Given the description of an element on the screen output the (x, y) to click on. 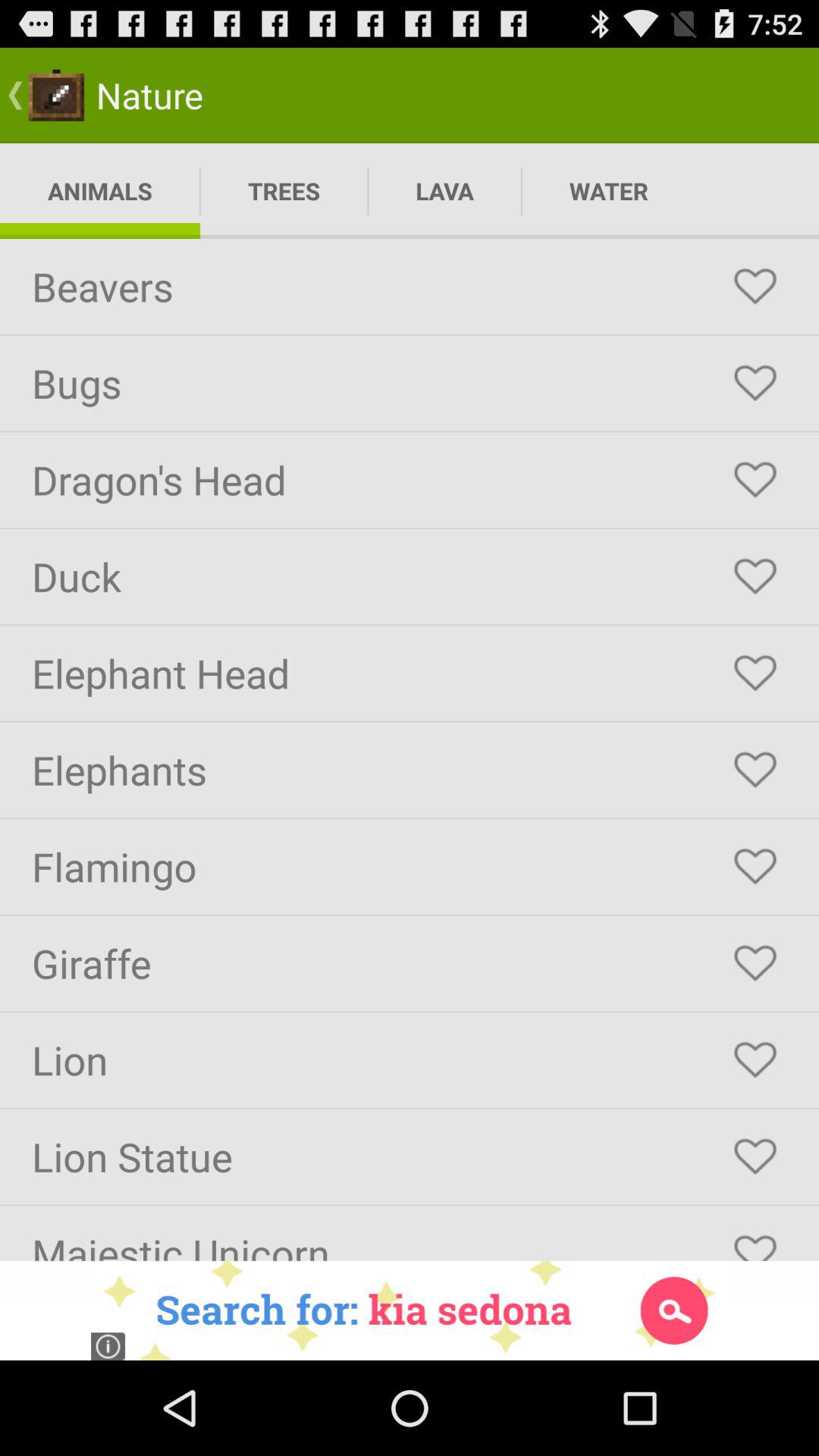
like (755, 673)
